Given the description of an element on the screen output the (x, y) to click on. 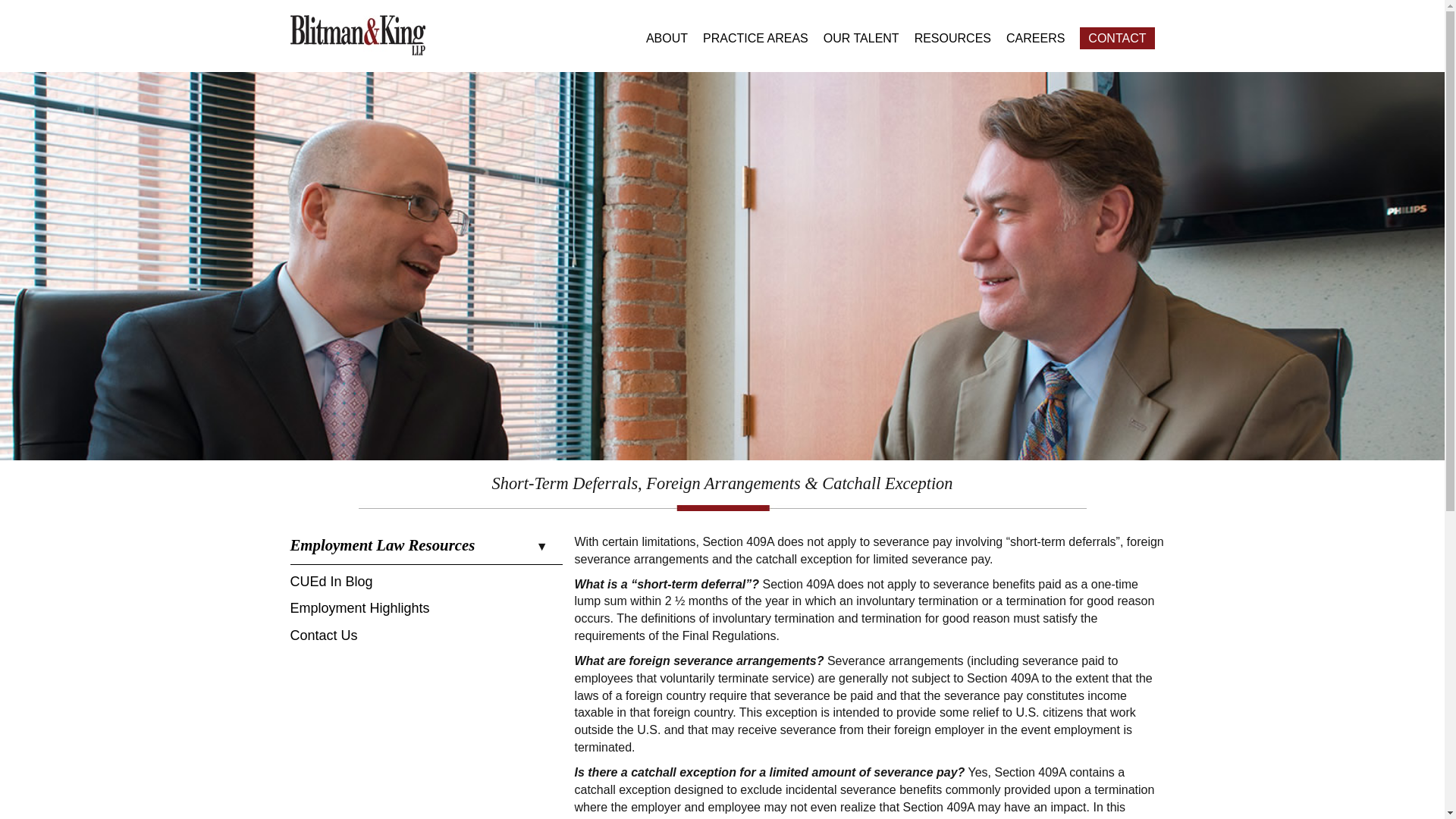
RESOURCES (952, 38)
CAREERS (1035, 38)
PRACTICE AREAS (755, 38)
Return to Homepage (357, 33)
Employment Highlights (359, 611)
OUR TALENT (861, 38)
CUEd In Blog (330, 585)
Employment Law Resources (425, 549)
CONTACT (1117, 38)
ABOUT (666, 38)
